Given the description of an element on the screen output the (x, y) to click on. 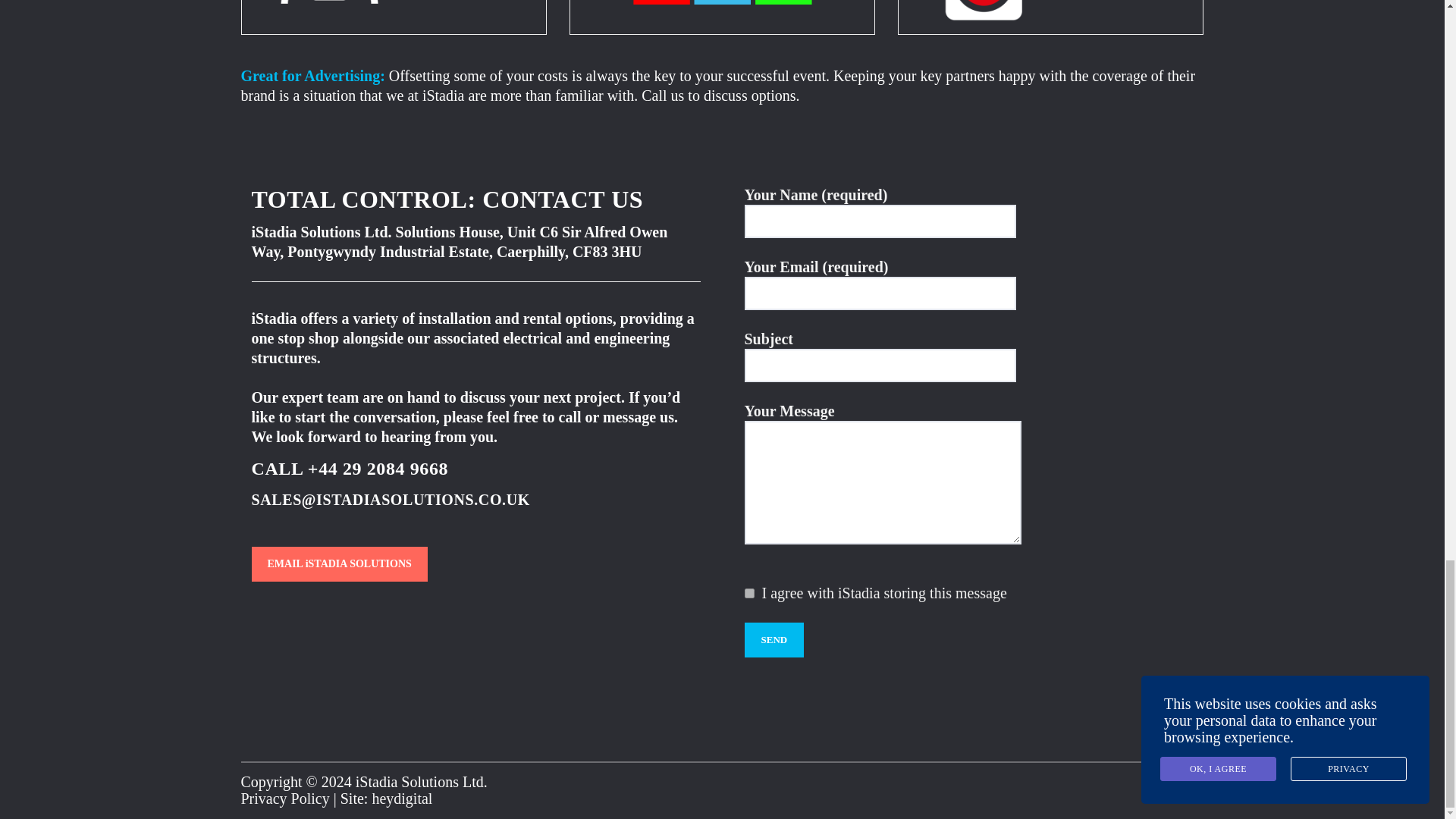
1 (749, 593)
